Given the description of an element on the screen output the (x, y) to click on. 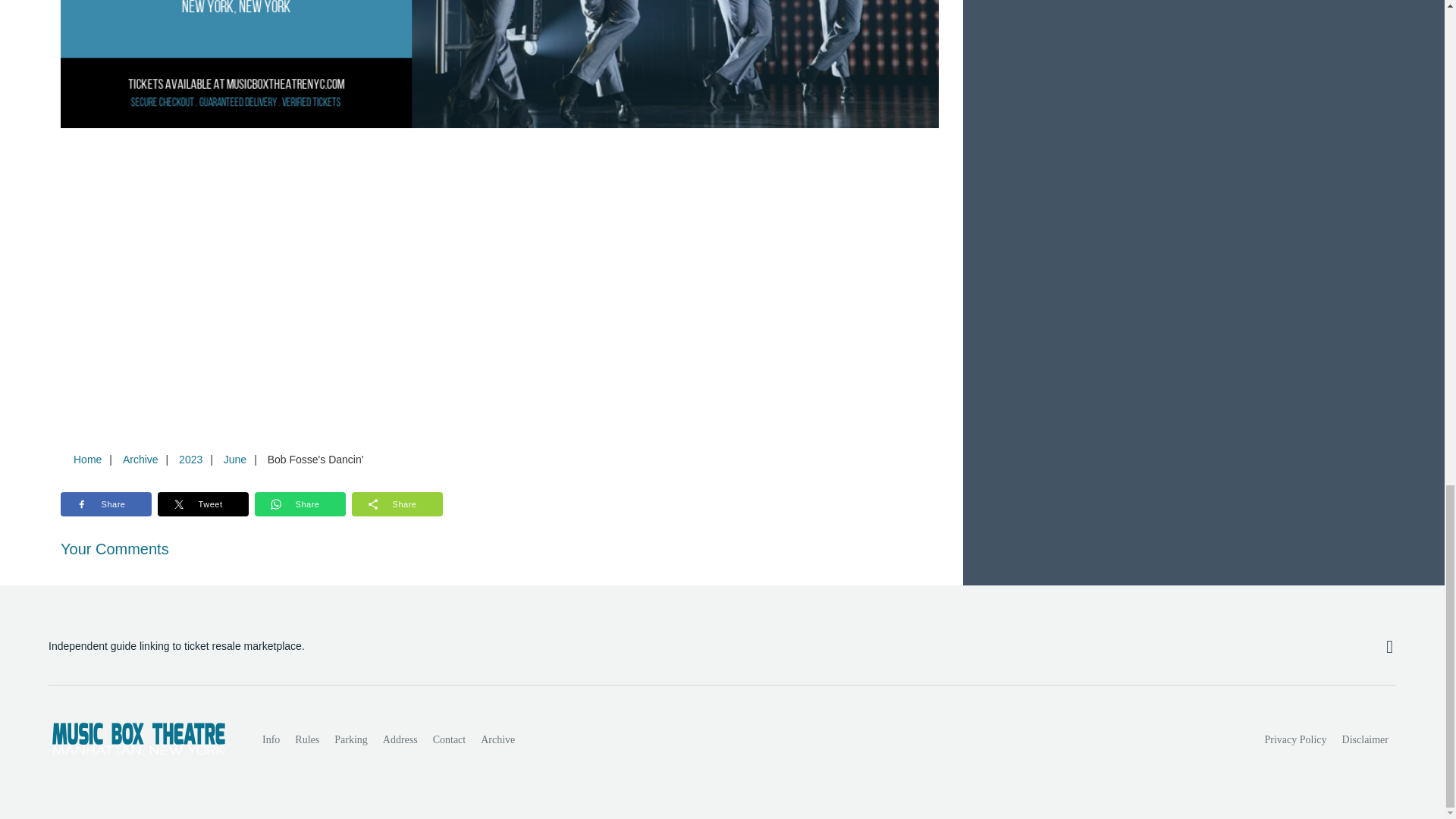
June (234, 459)
Rules (306, 739)
Parking (350, 739)
Archive (497, 739)
Contact (449, 739)
Address (400, 739)
2023 (190, 459)
Bob Fosse's Dancin' at Music Box Theatre tickets (500, 63)
Privacy Policy (1296, 739)
Info (270, 739)
Home (87, 459)
Disclaimer (1365, 739)
Archive (140, 459)
